Given the description of an element on the screen output the (x, y) to click on. 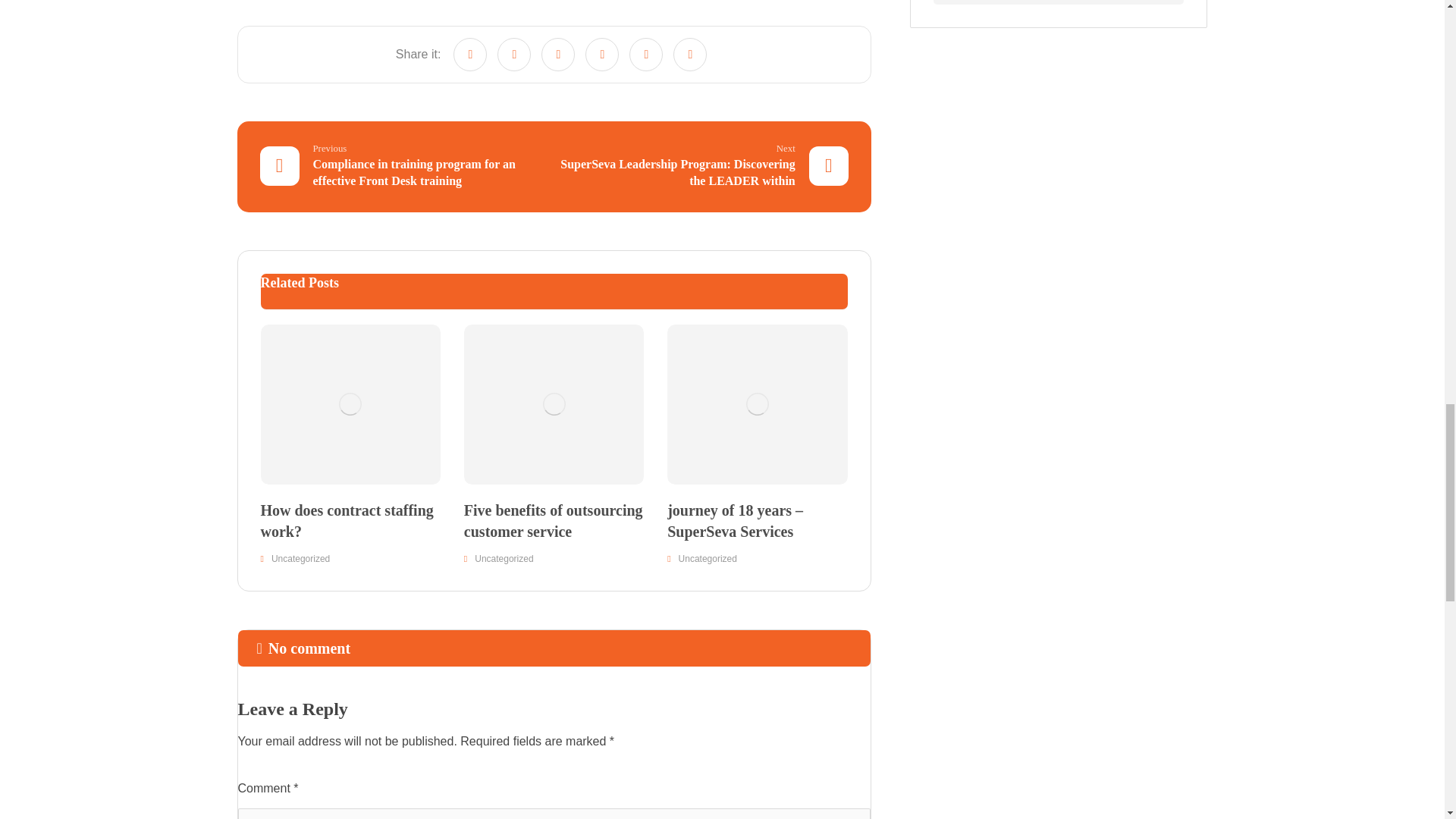
Published on (377, 1)
Posted by (276, 1)
Ads (1058, 2)
